Given the description of an element on the screen output the (x, y) to click on. 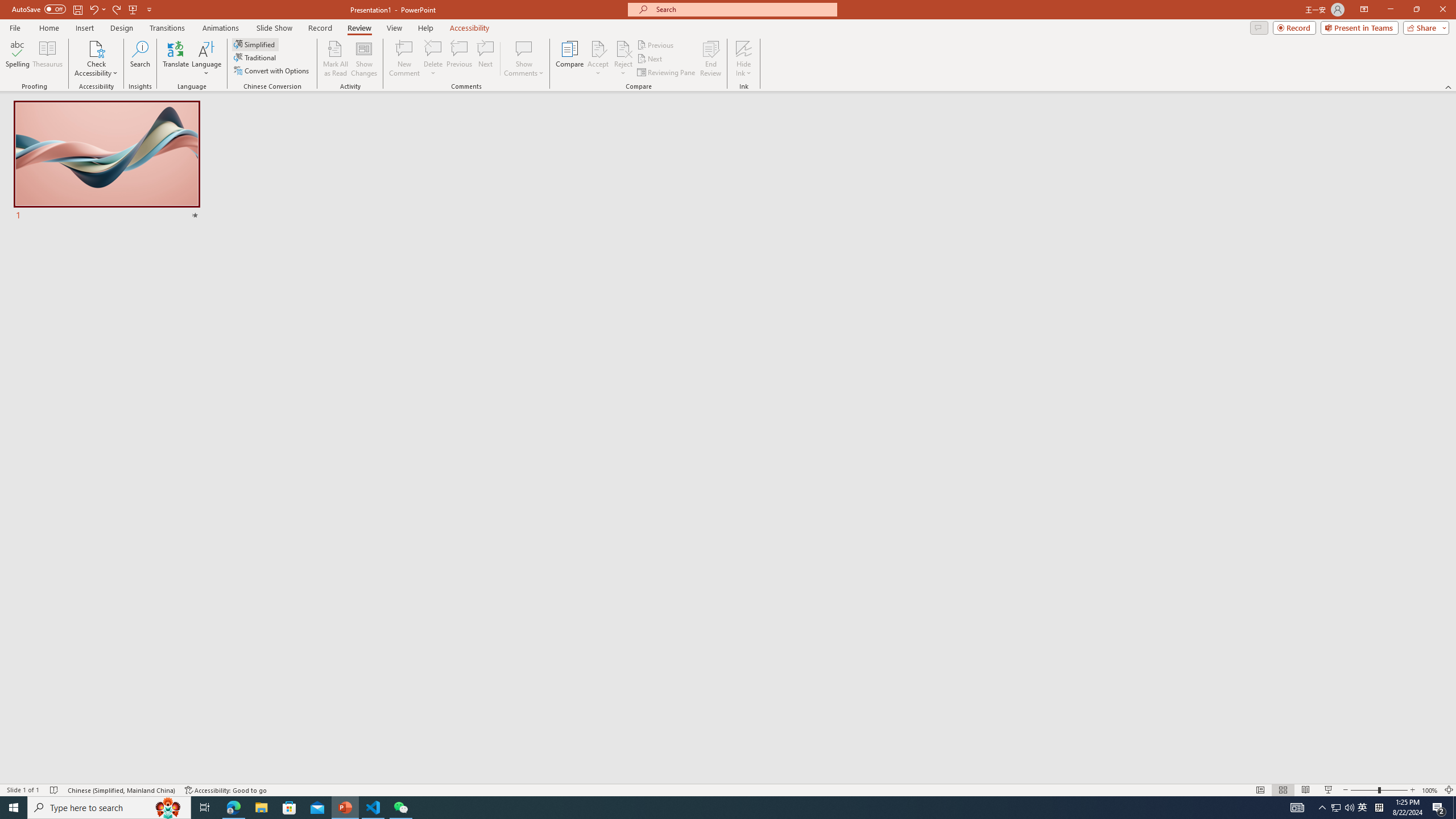
Zoom Out (1364, 790)
System (6, 6)
Zoom to Fit  (1449, 790)
Show Comments (524, 48)
View (395, 28)
Slide Show (273, 28)
Record (320, 28)
Quick Access Toolbar (82, 9)
Thesaurus... (47, 58)
Reviewing Pane (666, 72)
Collapse the Ribbon (1448, 86)
Minimize (1390, 9)
Slide (106, 161)
Accept Change (598, 48)
Redo (117, 9)
